Given the description of an element on the screen output the (x, y) to click on. 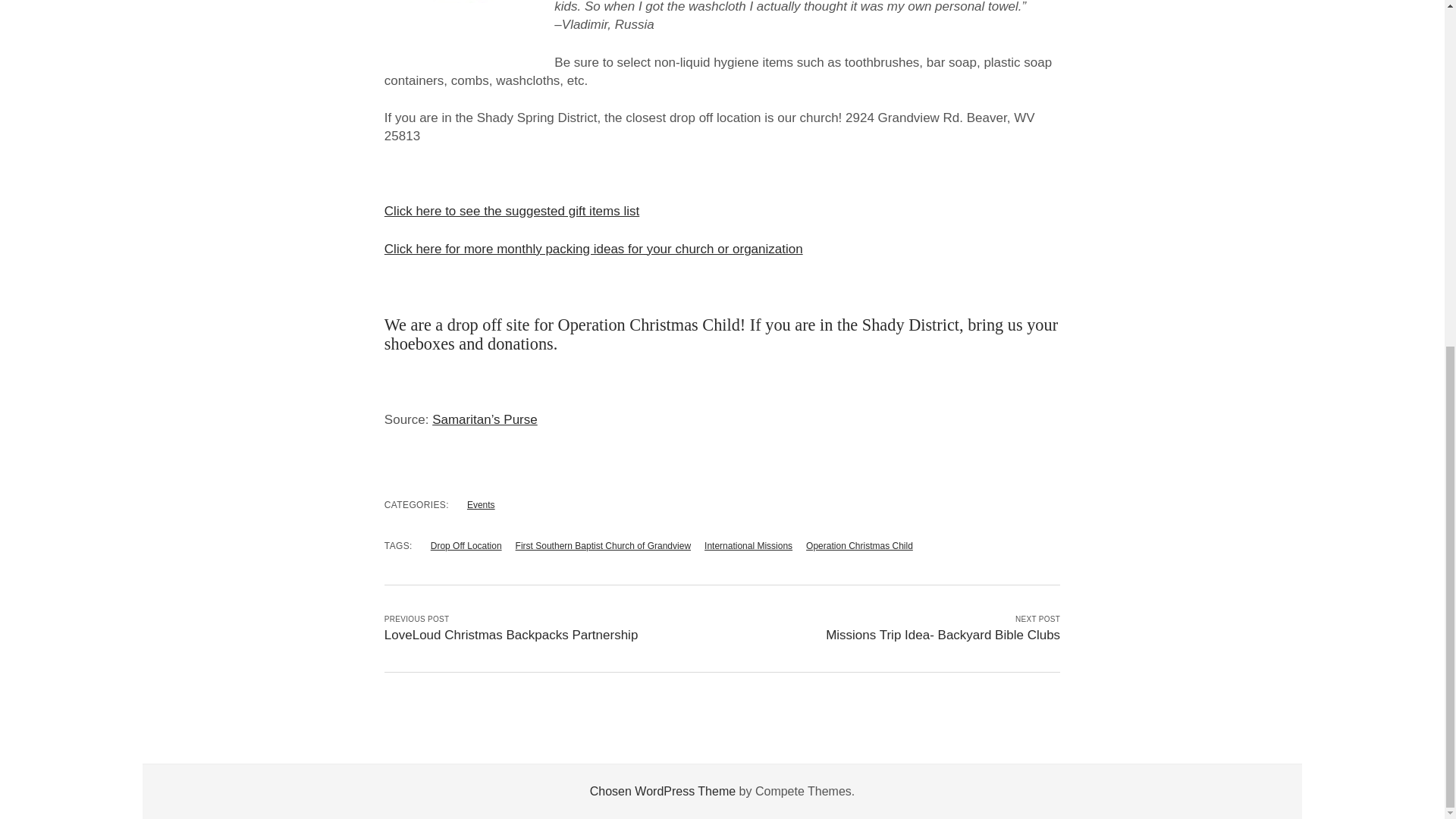
View all posts tagged International Missions (748, 545)
Missions Trip Idea- Backyard Bible Clubs (942, 635)
Chosen WordPress Theme (662, 790)
Click here to see the suggested gift items list (511, 210)
LoveLoud Christmas Backpacks Partnership (511, 635)
Operation Christmas Child (859, 545)
View all posts tagged Drop Off Location (466, 545)
International Missions (748, 545)
View all posts in Events (481, 504)
First Southern Baptist Church of Grandview (602, 545)
Drop Off Location (466, 545)
View all posts tagged Operation Christmas Child (859, 545)
Events (481, 504)
